Given the description of an element on the screen output the (x, y) to click on. 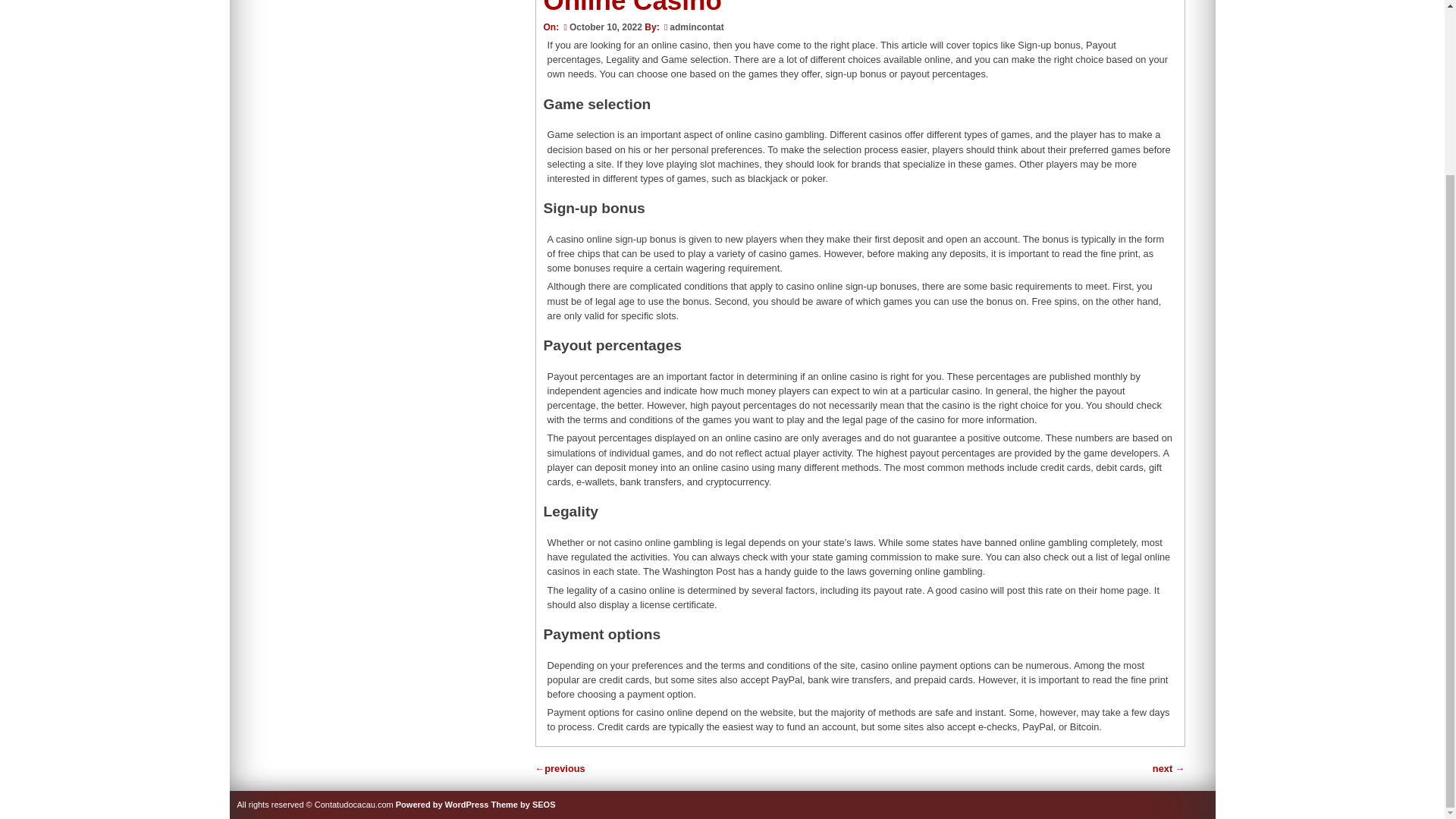
Powered by WordPress (442, 804)
Theme by SEOS (524, 804)
Seos free wordpress themes (524, 804)
October 10, 2022 (601, 27)
admincontat (696, 27)
